Given the description of an element on the screen output the (x, y) to click on. 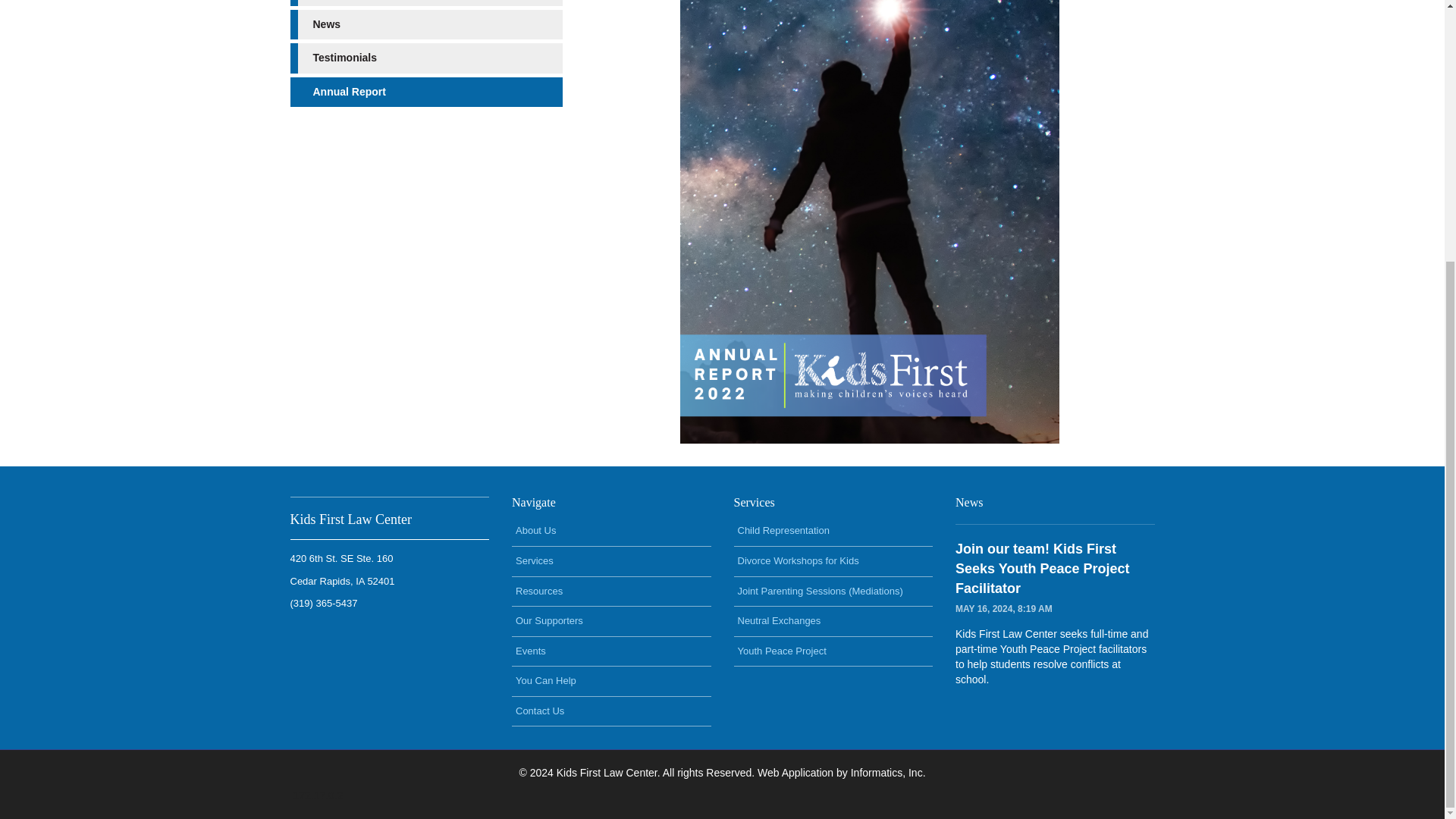
Annual Report (429, 91)
Board of Directors (429, 2)
Testimonials (429, 58)
News (429, 24)
